Given the description of an element on the screen output the (x, y) to click on. 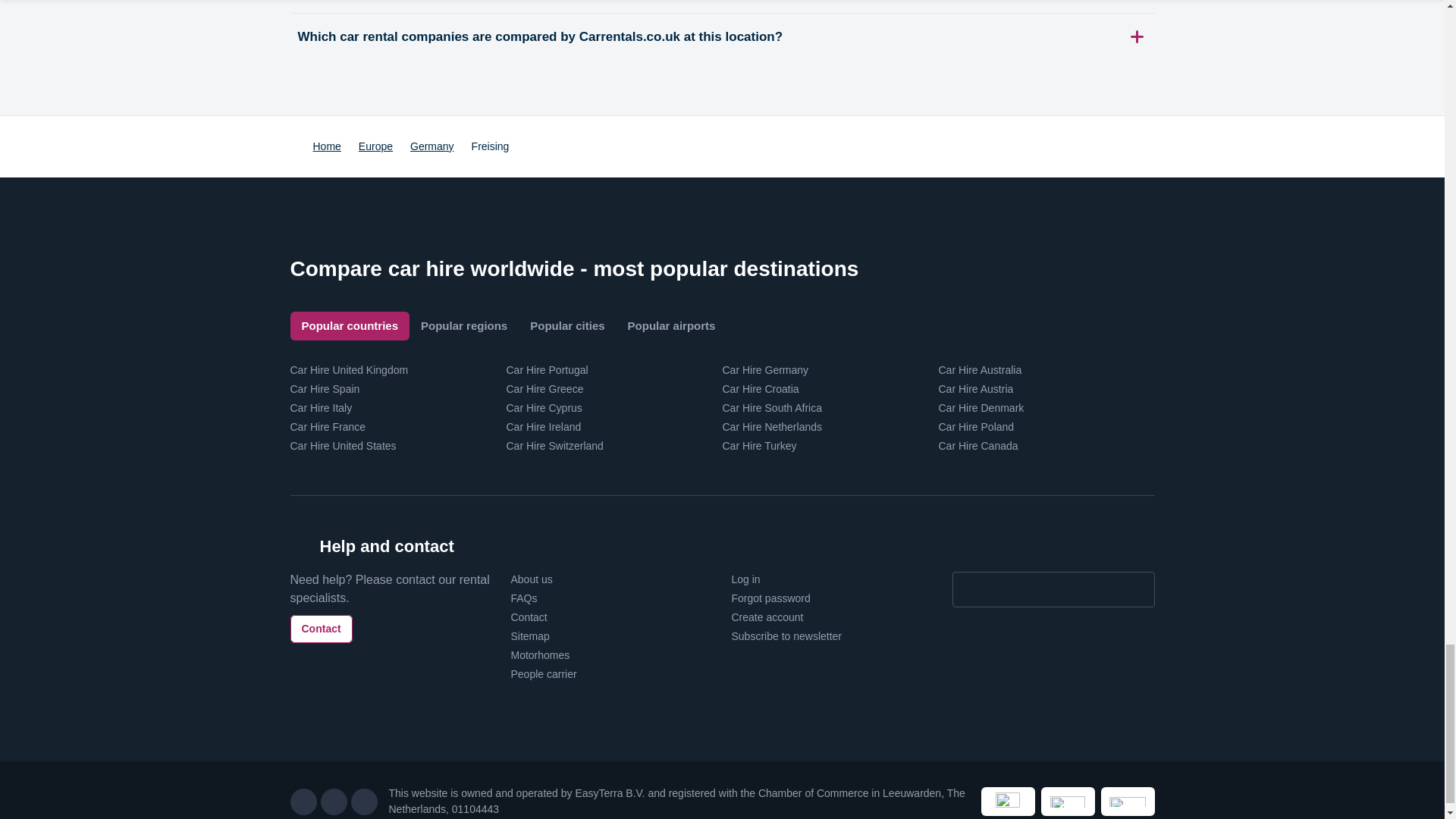
Europe (375, 145)
Germany (432, 145)
Home (326, 145)
Car Hire United Kingdom (348, 369)
Car Hire Spain (324, 388)
